Given the description of an element on the screen output the (x, y) to click on. 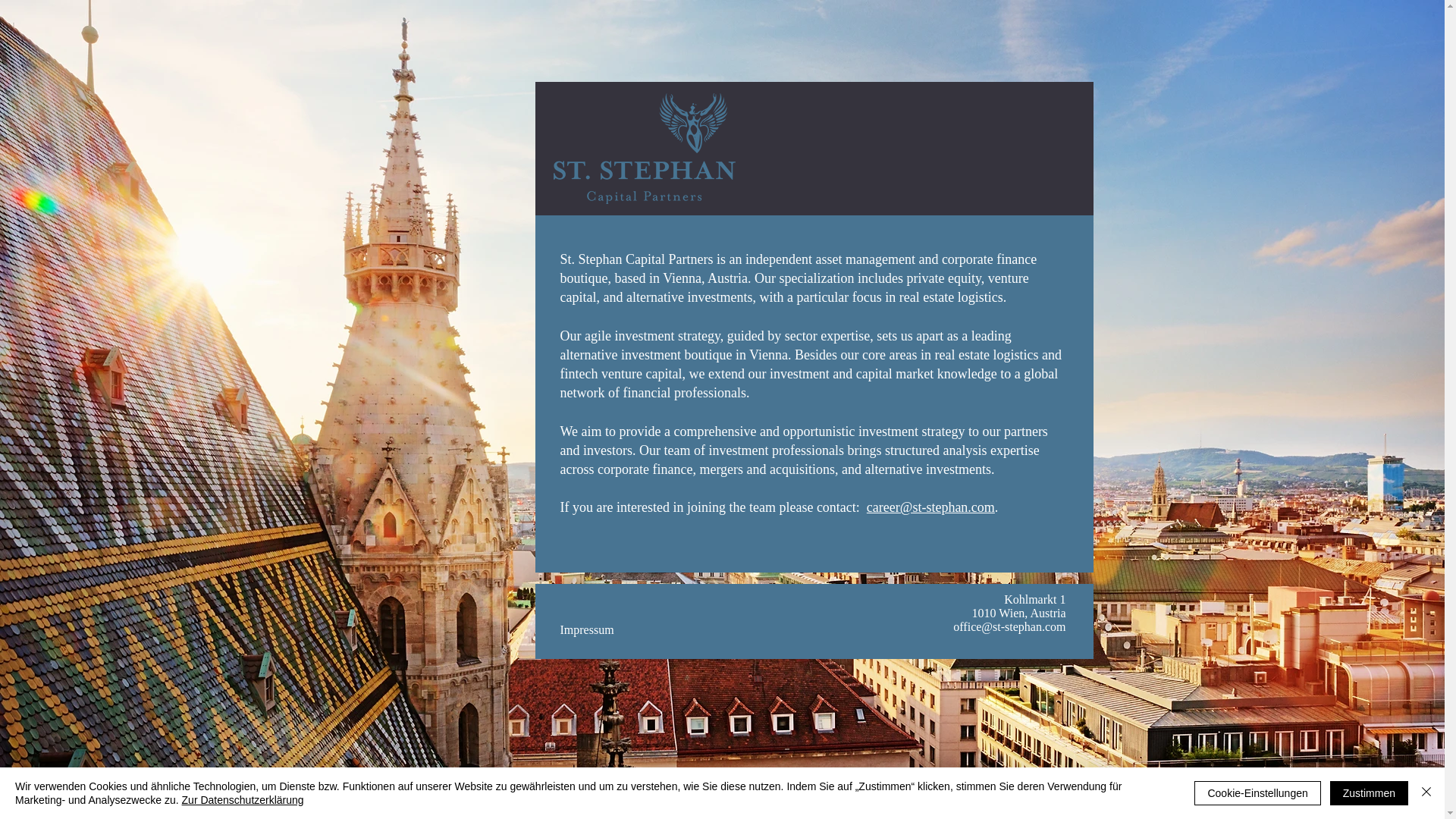
Cookie-Einstellungen (1256, 793)
Zustimmen (1368, 793)
Impressum (585, 629)
